Given the description of an element on the screen output the (x, y) to click on. 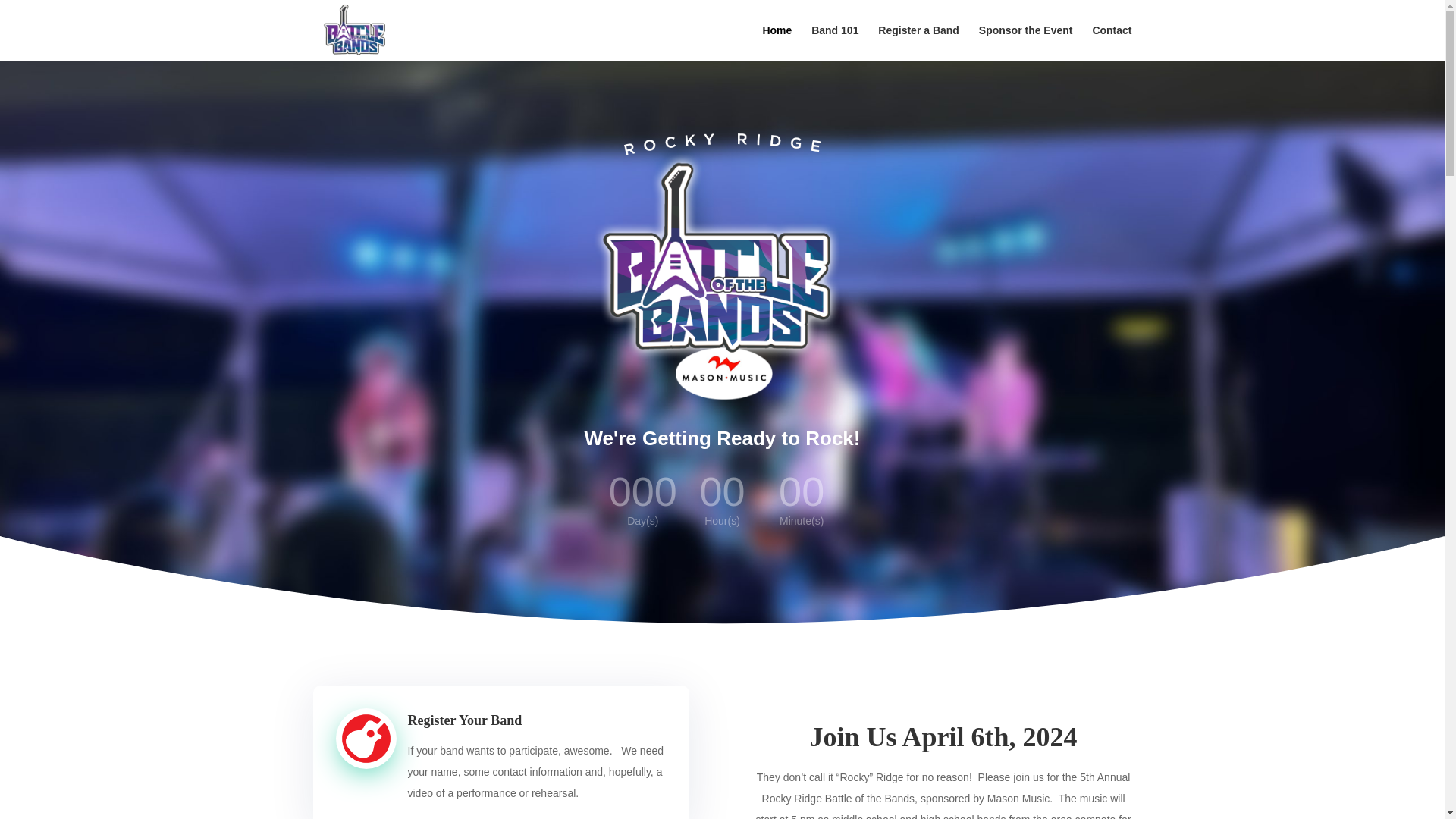
Rocky Ridge Header (722, 144)
Battle Logo.homepage.mason (722, 276)
Home (776, 42)
Contact (1111, 42)
Register Your Band (464, 720)
Band 101 (834, 42)
Sponsor the Event (1025, 42)
Register a Band (918, 42)
